Given the description of an element on the screen output the (x, y) to click on. 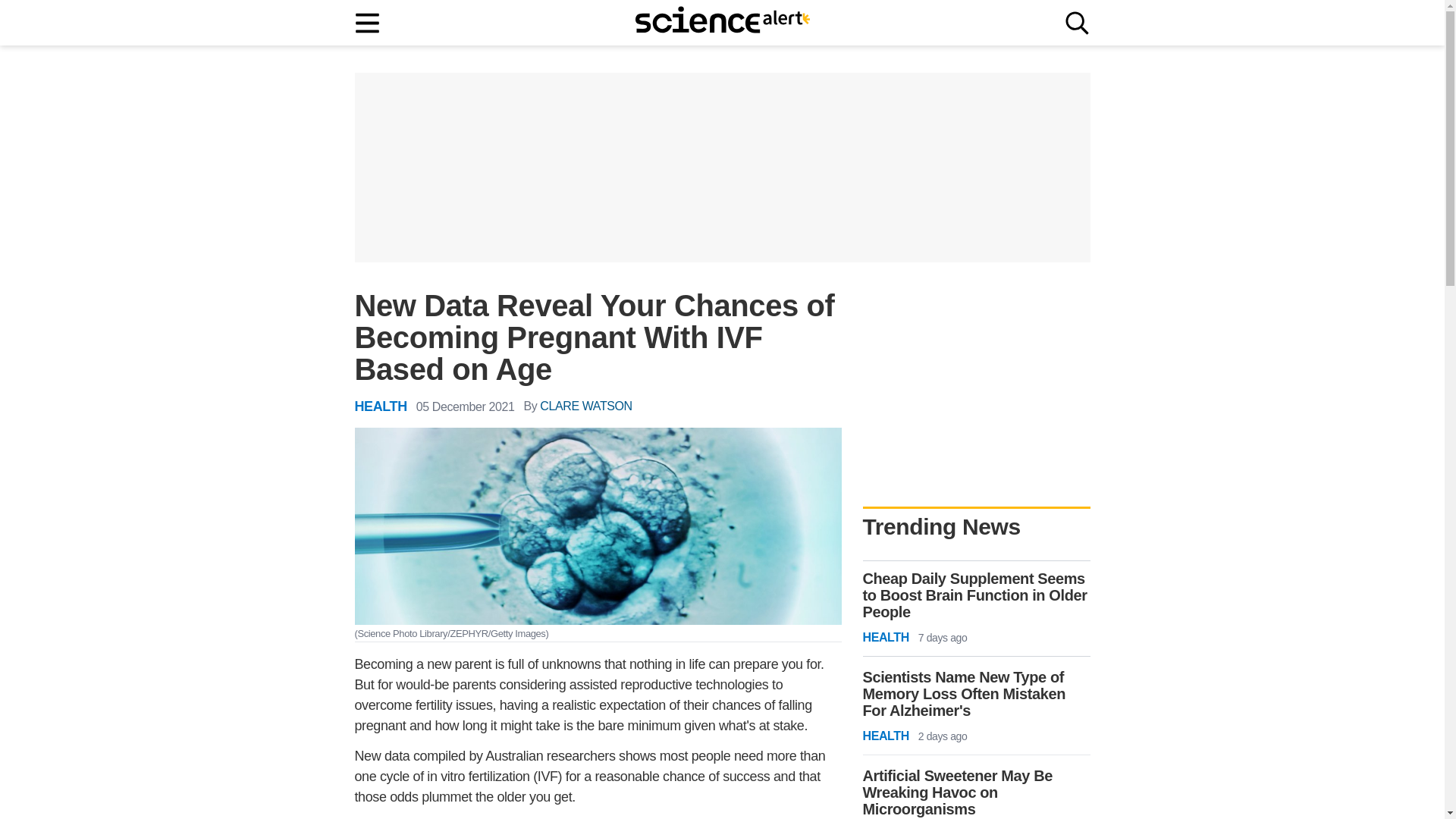
CLARE WATSON (585, 405)
HEALTH (381, 406)
